Given the description of an element on the screen output the (x, y) to click on. 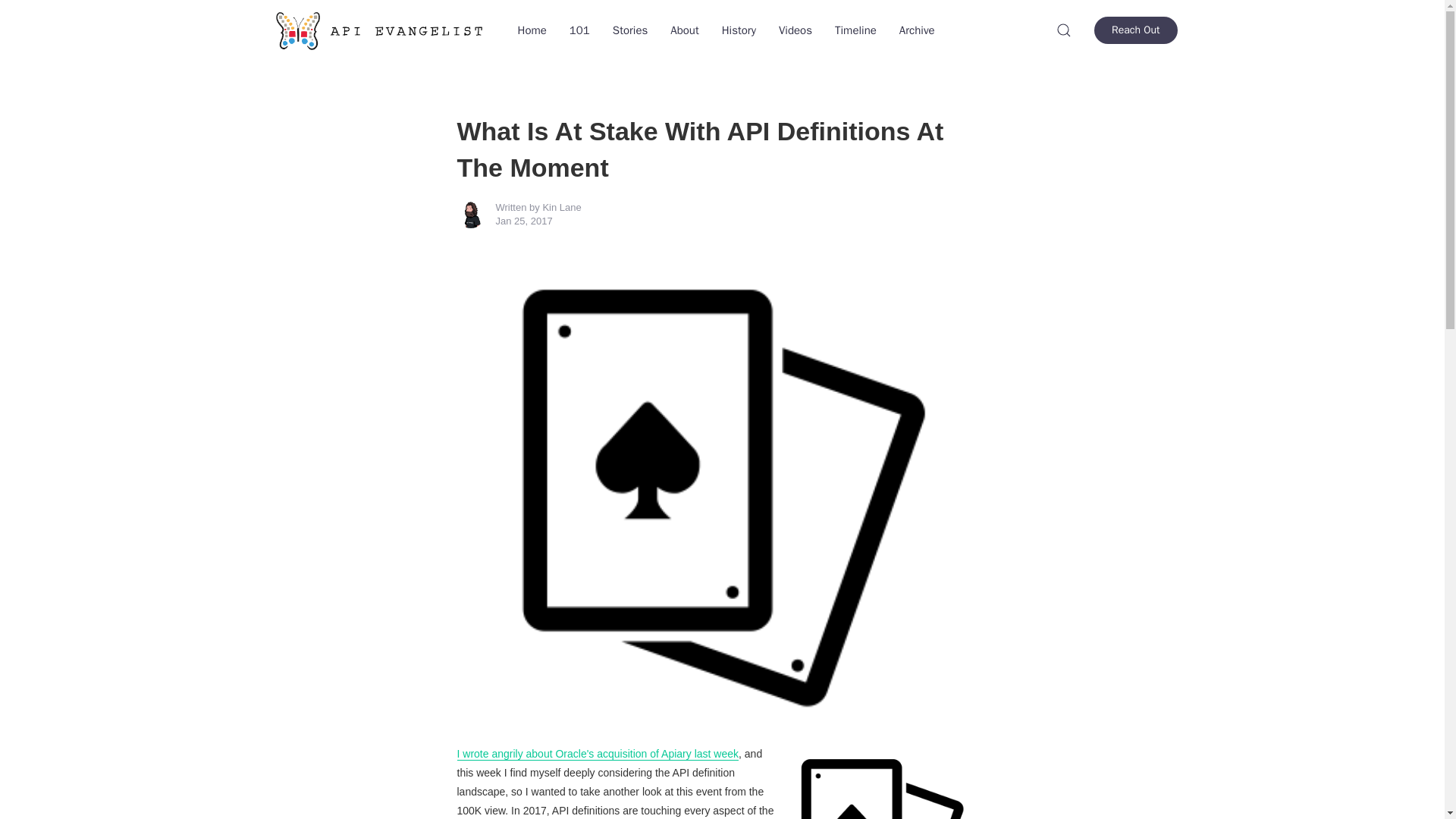
Stories (630, 30)
101 (579, 30)
Archive (917, 30)
About (684, 30)
Timeline (856, 30)
Home (531, 30)
History (738, 30)
Videos (795, 30)
Reach Out (1135, 30)
